Given the description of an element on the screen output the (x, y) to click on. 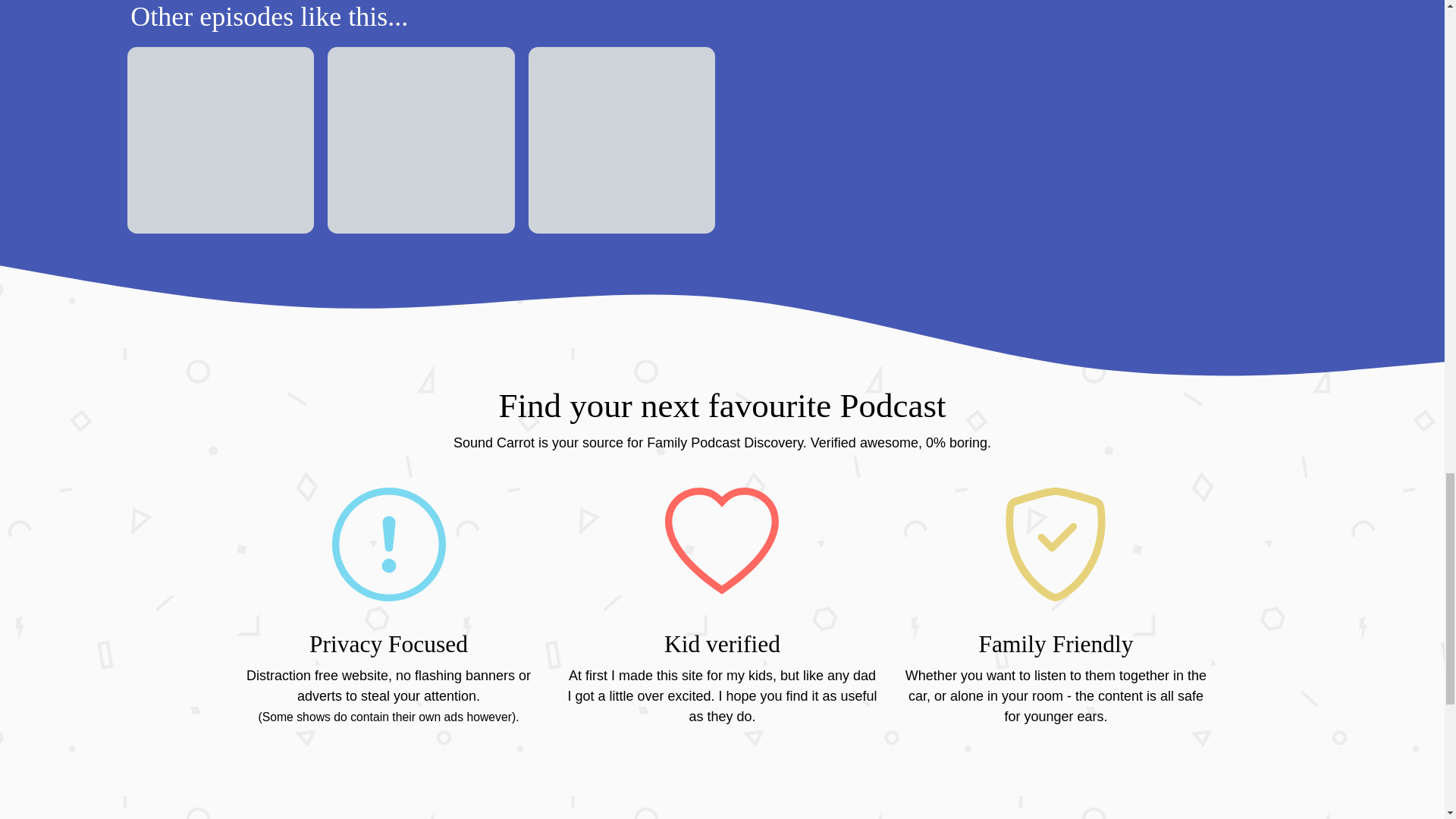
Chapter 4: Look It Up (221, 140)
